Given the description of an element on the screen output the (x, y) to click on. 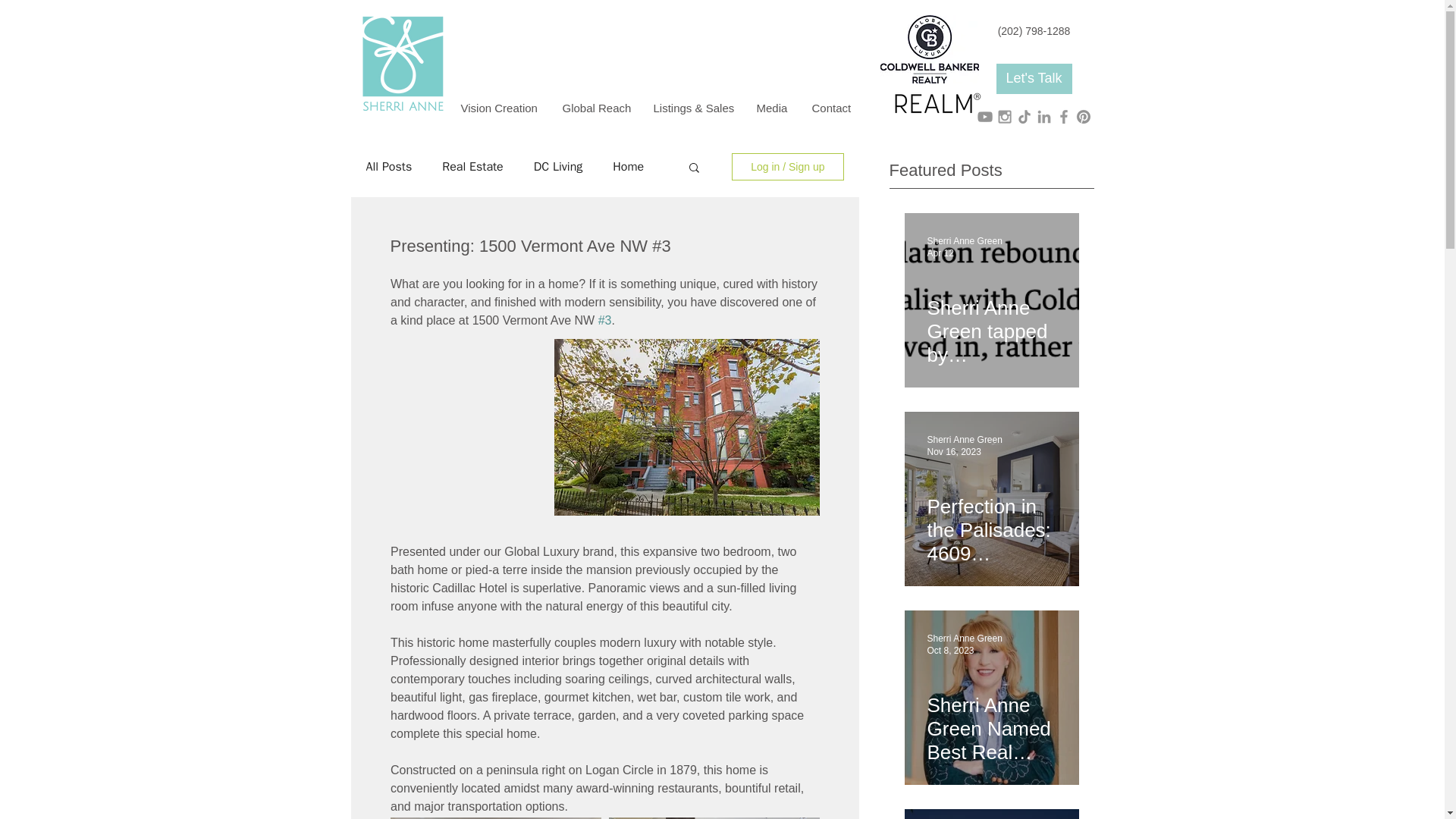
Nov 16, 2023 (952, 451)
Home (627, 166)
Global Reach (596, 108)
Vision Creation (499, 108)
Coldwll Banker Realty Log (928, 49)
Sherri Anne Green (963, 638)
Apr 12 (939, 253)
Sherri Anne Green, Washington DC Realtors (936, 103)
Let's Talk (1033, 78)
Real Estate (472, 166)
